Given the description of an element on the screen output the (x, y) to click on. 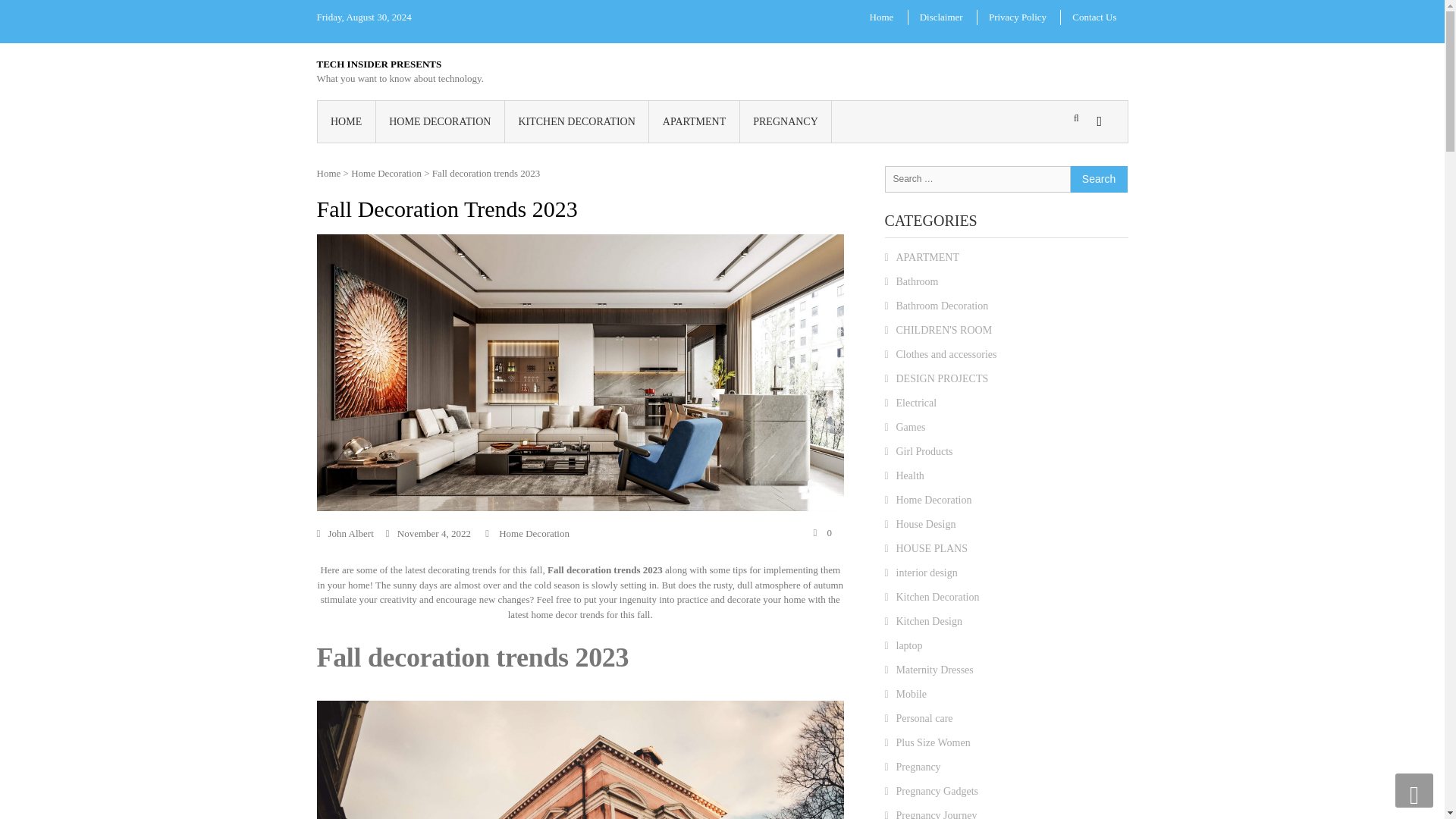
TECH INSIDER PRESENTS (379, 62)
Search (1098, 178)
Home Decoration (534, 532)
Home (882, 16)
APARTMENT (694, 120)
Home Decoration (386, 172)
PREGNANCY (785, 120)
HOME (346, 120)
Search (936, 228)
Home (328, 172)
